Given the description of an element on the screen output the (x, y) to click on. 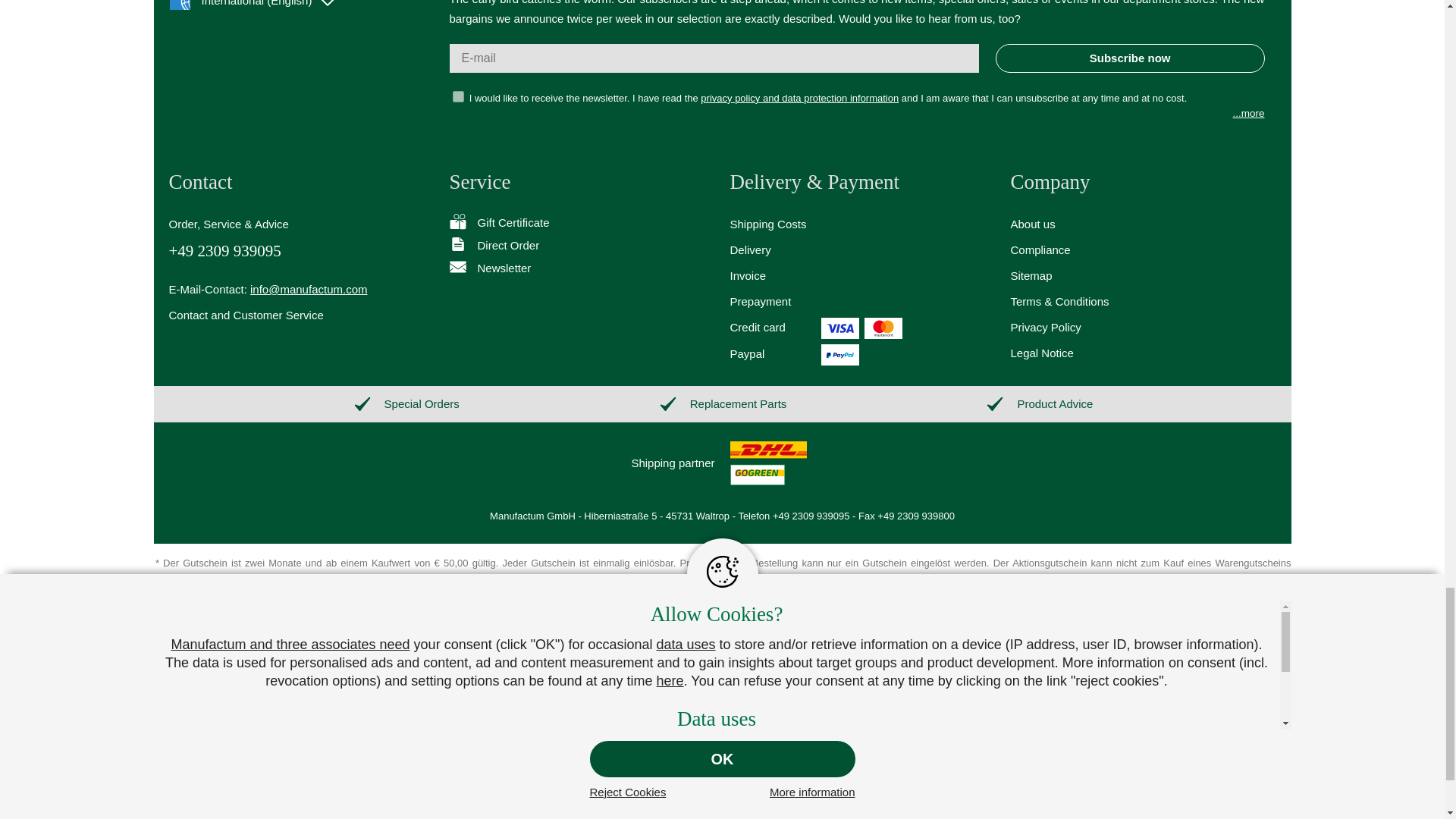
on (457, 96)
